Given the description of an element on the screen output the (x, y) to click on. 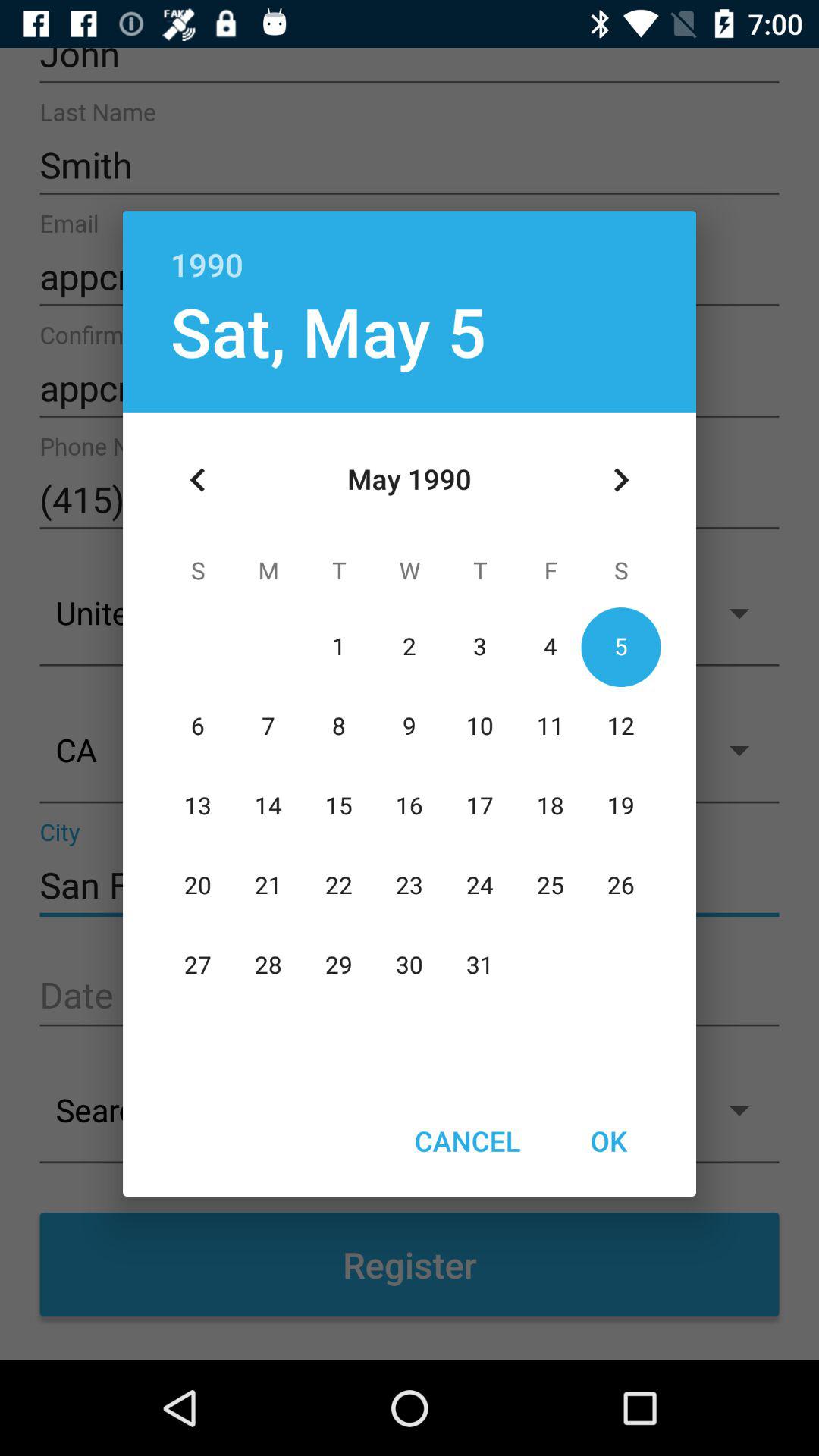
choose item to the right of the cancel icon (608, 1140)
